Given the description of an element on the screen output the (x, y) to click on. 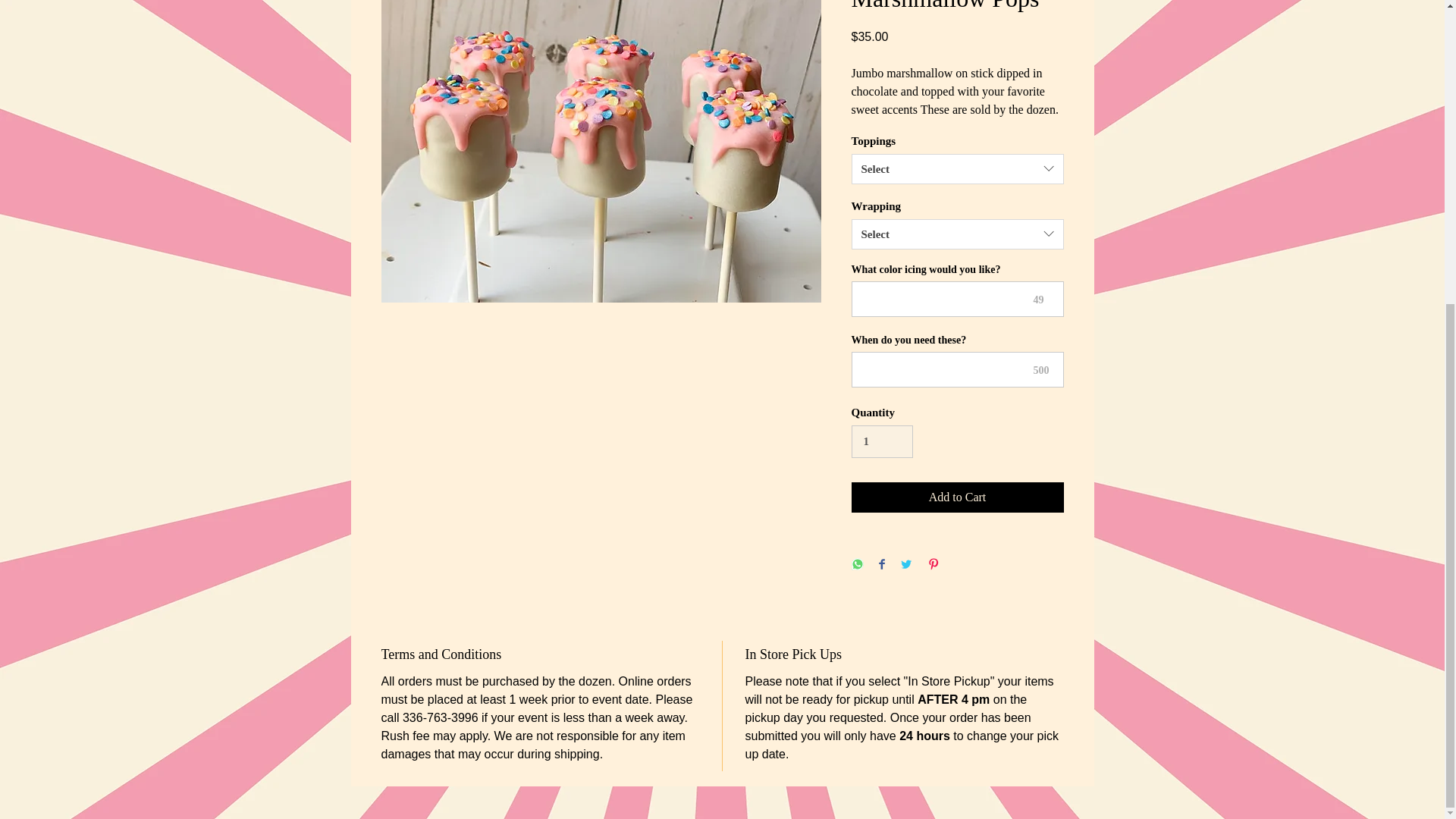
1 (881, 441)
Select (956, 234)
Add to Cart (956, 497)
Select (956, 168)
